Given the description of an element on the screen output the (x, y) to click on. 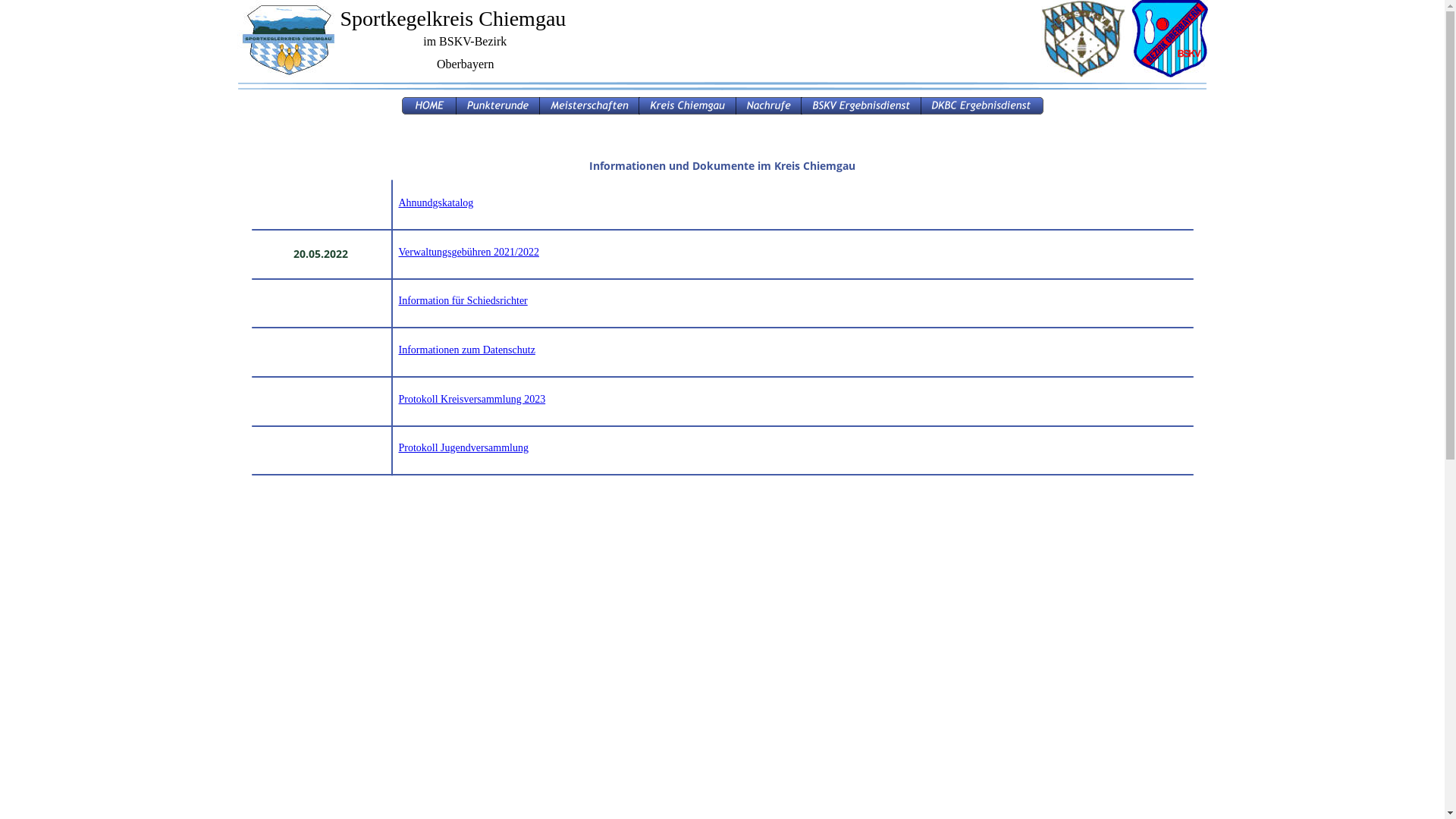
Protokoll Jugendversammlung Element type: text (463, 447)
Informationen zum Datenschutz Element type: text (466, 349)
Ahnundgskatalog Element type: text (435, 202)
Protokoll Kreisversammlung 2023 Element type: text (472, 398)
